Given the description of an element on the screen output the (x, y) to click on. 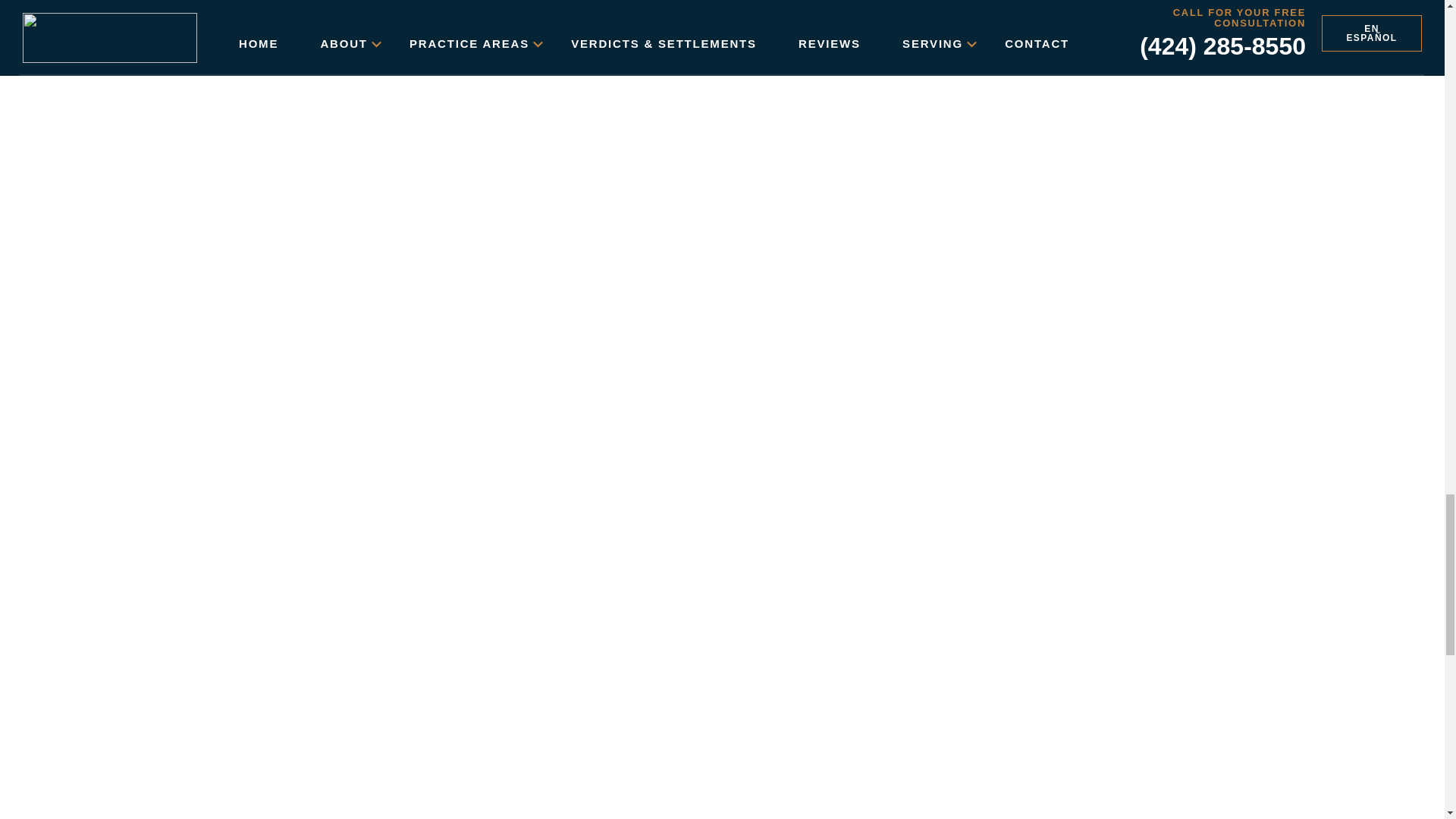
online form (566, 30)
